Given the description of an element on the screen output the (x, y) to click on. 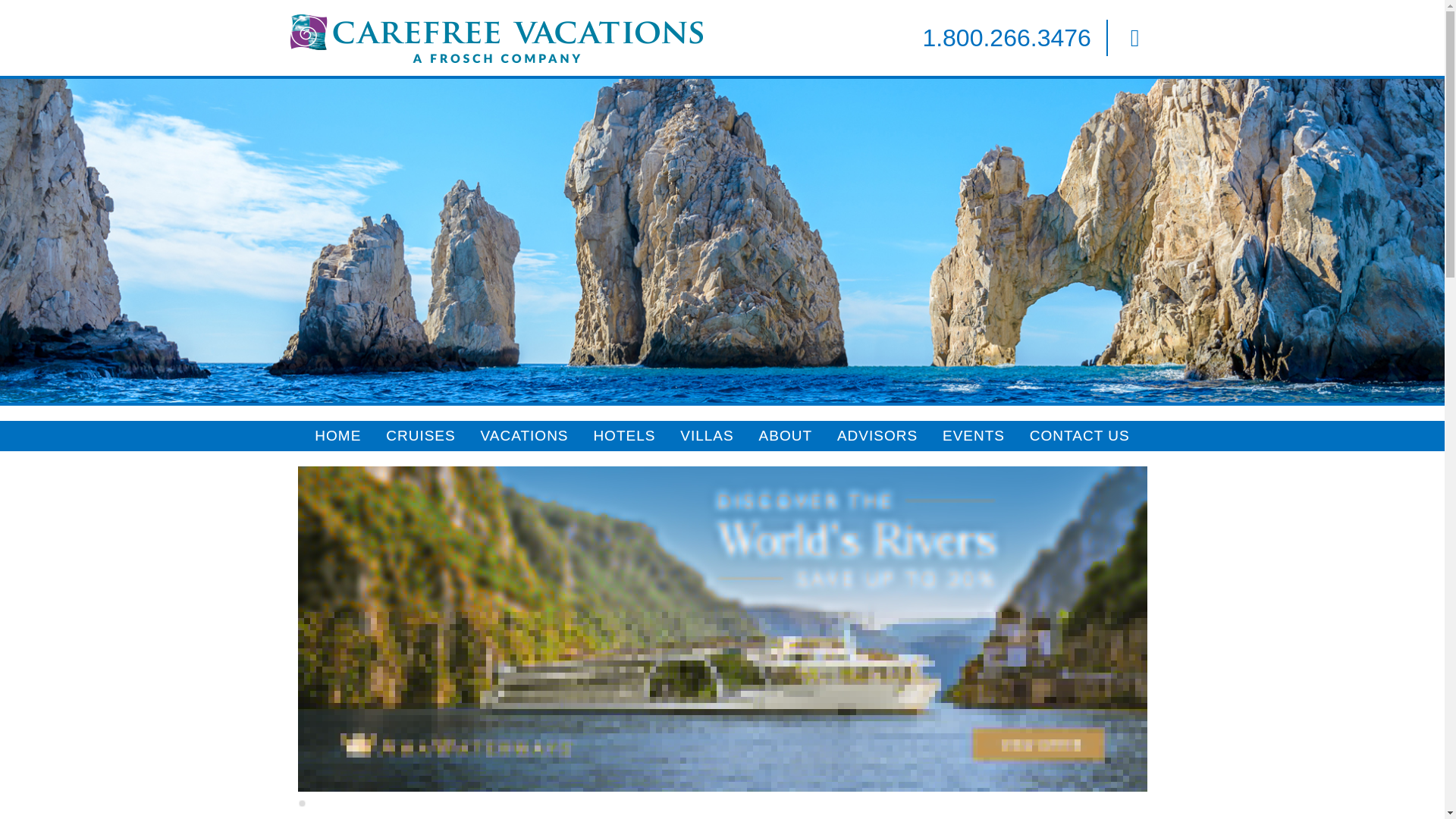
CONTACT US (1080, 435)
HOTELS (624, 435)
ABOUT (785, 435)
VILLAS (706, 435)
VACATIONS (524, 435)
HOME (338, 435)
ADVISORS (876, 435)
EVENTS (974, 435)
CRUISES (419, 435)
